Given the description of an element on the screen output the (x, y) to click on. 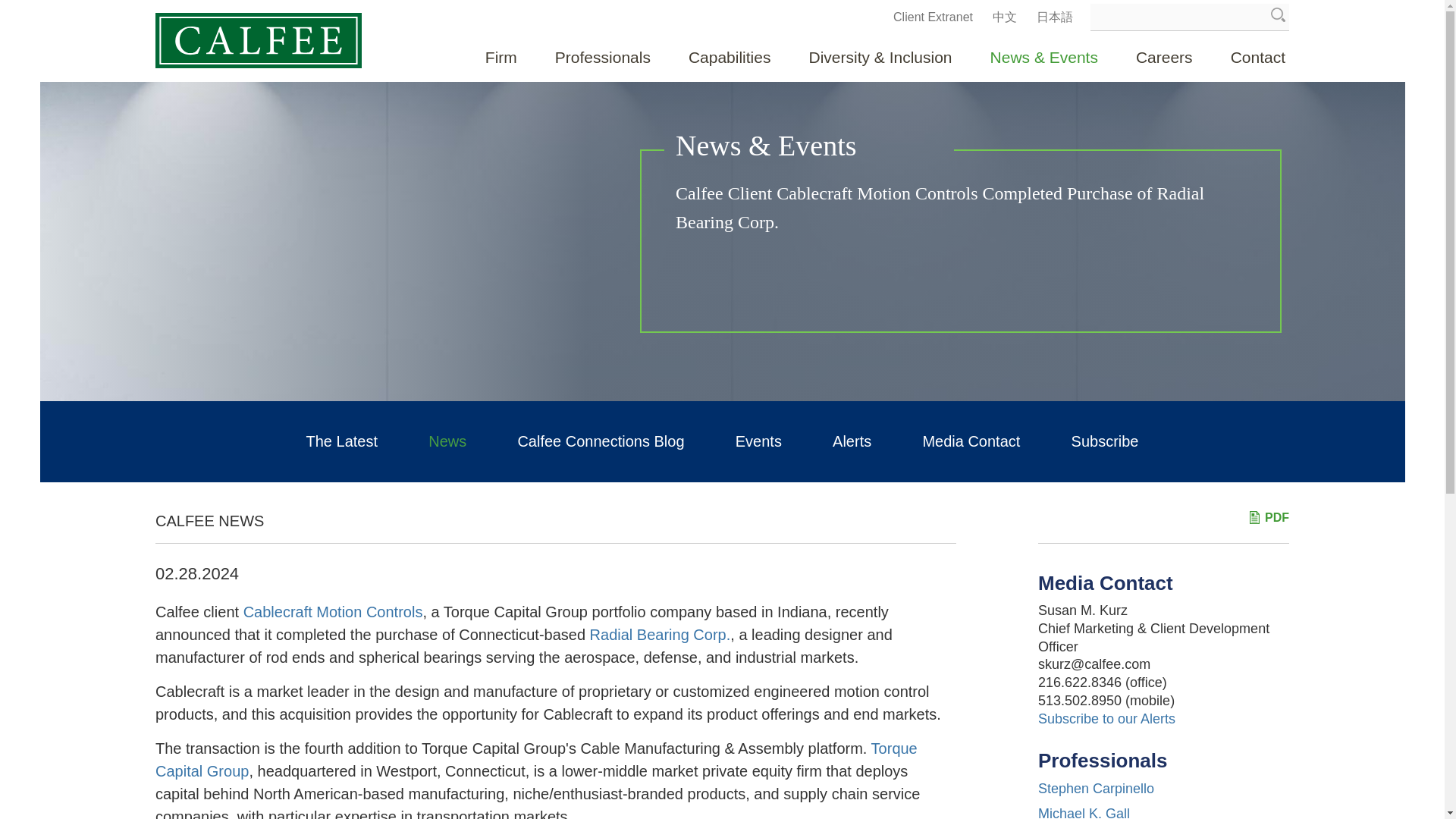
Japanese (1054, 16)
Subscribe (1104, 441)
Media Contact (970, 441)
Alerts (851, 441)
Torque Capital Group's website at torquecap.com (536, 759)
Cablecraft Motion Controls (333, 611)
The Latest (341, 441)
Radial Bearing Corp. (659, 634)
Events (758, 441)
Cablecraft Motion Controls website at cablecraft.com (333, 611)
